Given the description of an element on the screen output the (x, y) to click on. 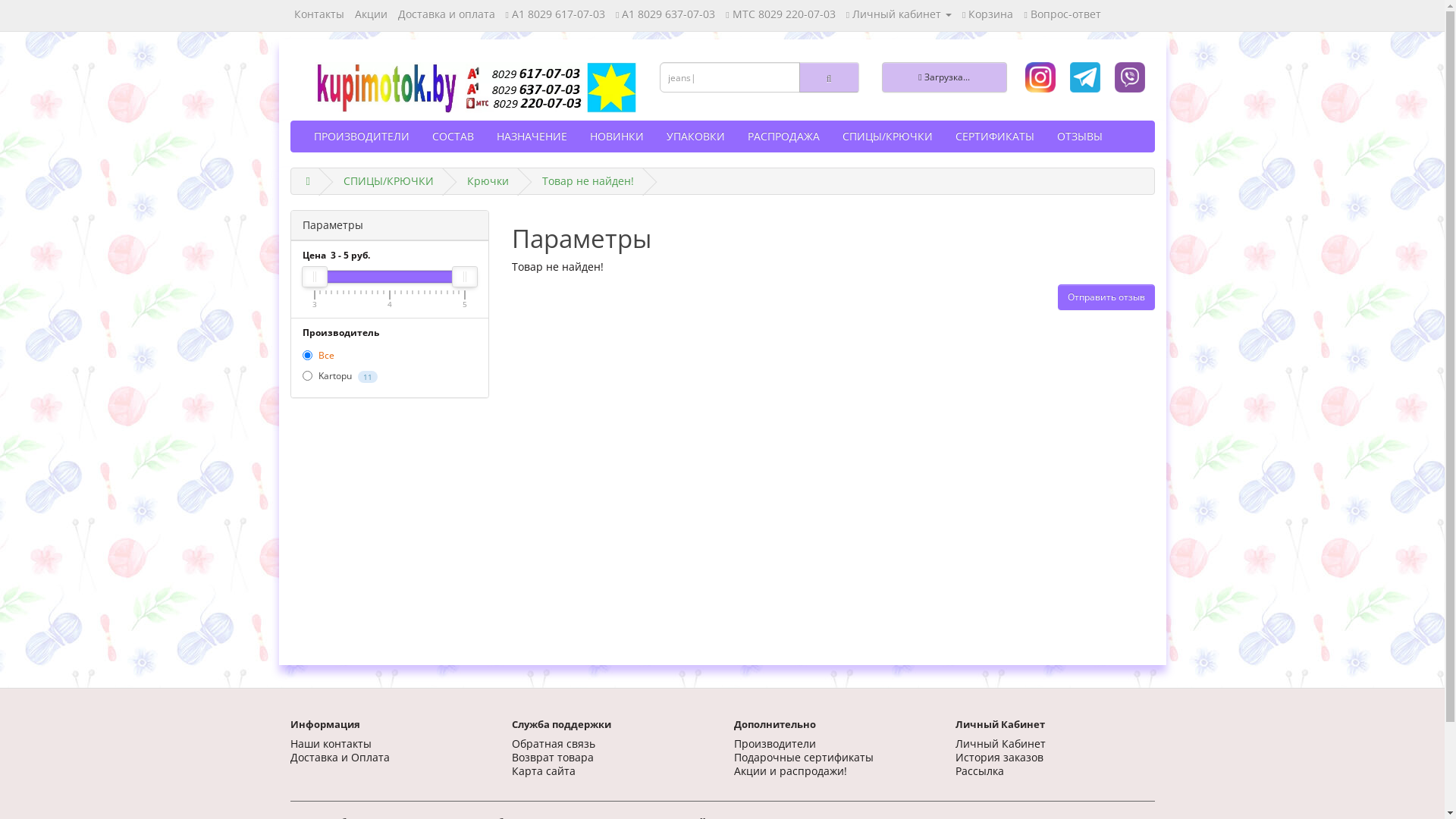
A1 8029 617-07-03 Element type: text (554, 13)
https://www.instagram.com/kupimotok.by/ Element type: hover (1040, 77)
https://t.me/kupimotok Element type: hover (1085, 77)
A1 8029 637-07-03 Element type: text (665, 13)
https://t.me/kupimotok Element type: hover (1129, 77)
